Given the description of an element on the screen output the (x, y) to click on. 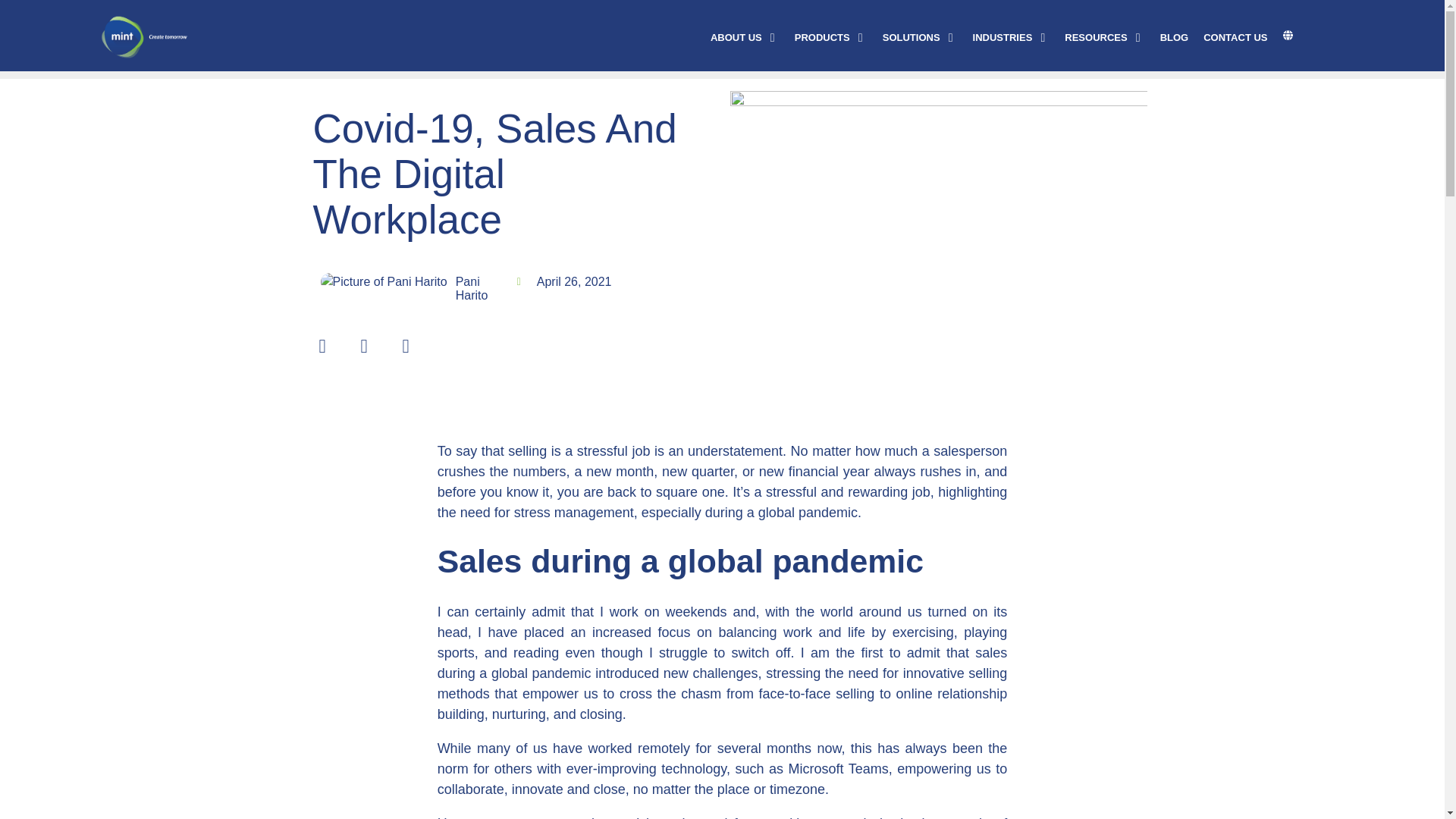
INDUSTRIES (1002, 37)
PRODUCTS (822, 37)
ABOUT US (735, 37)
SOLUTIONS (911, 37)
